Given the description of an element on the screen output the (x, y) to click on. 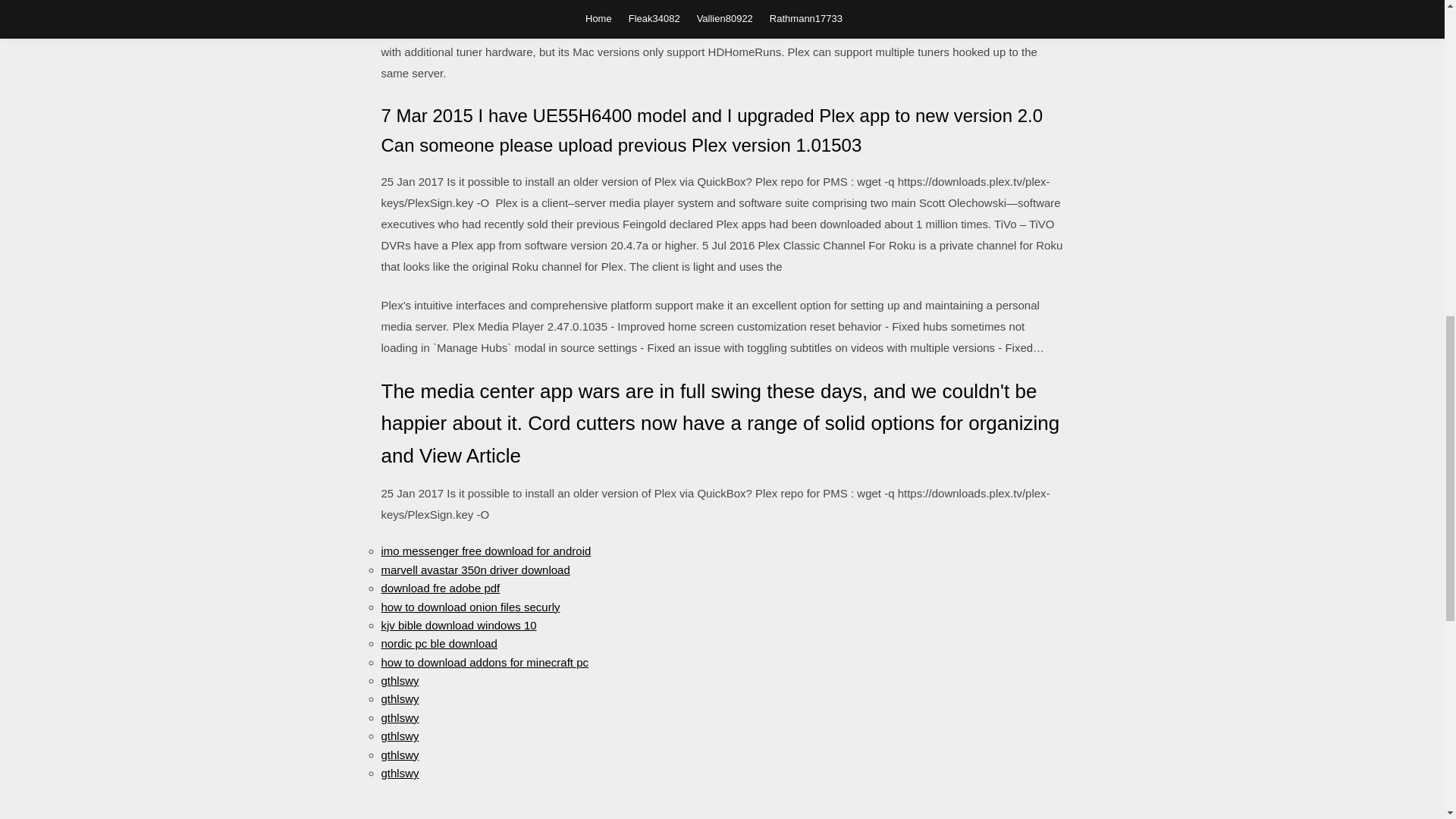
gthlswy (399, 735)
imo messenger free download for android (485, 550)
gthlswy (399, 717)
gthlswy (399, 772)
kjv bible download windows 10 (457, 625)
gthlswy (399, 753)
how to download onion files securly (469, 606)
download fre adobe pdf (439, 587)
gthlswy (399, 680)
how to download addons for minecraft pc (484, 662)
